Given the description of an element on the screen output the (x, y) to click on. 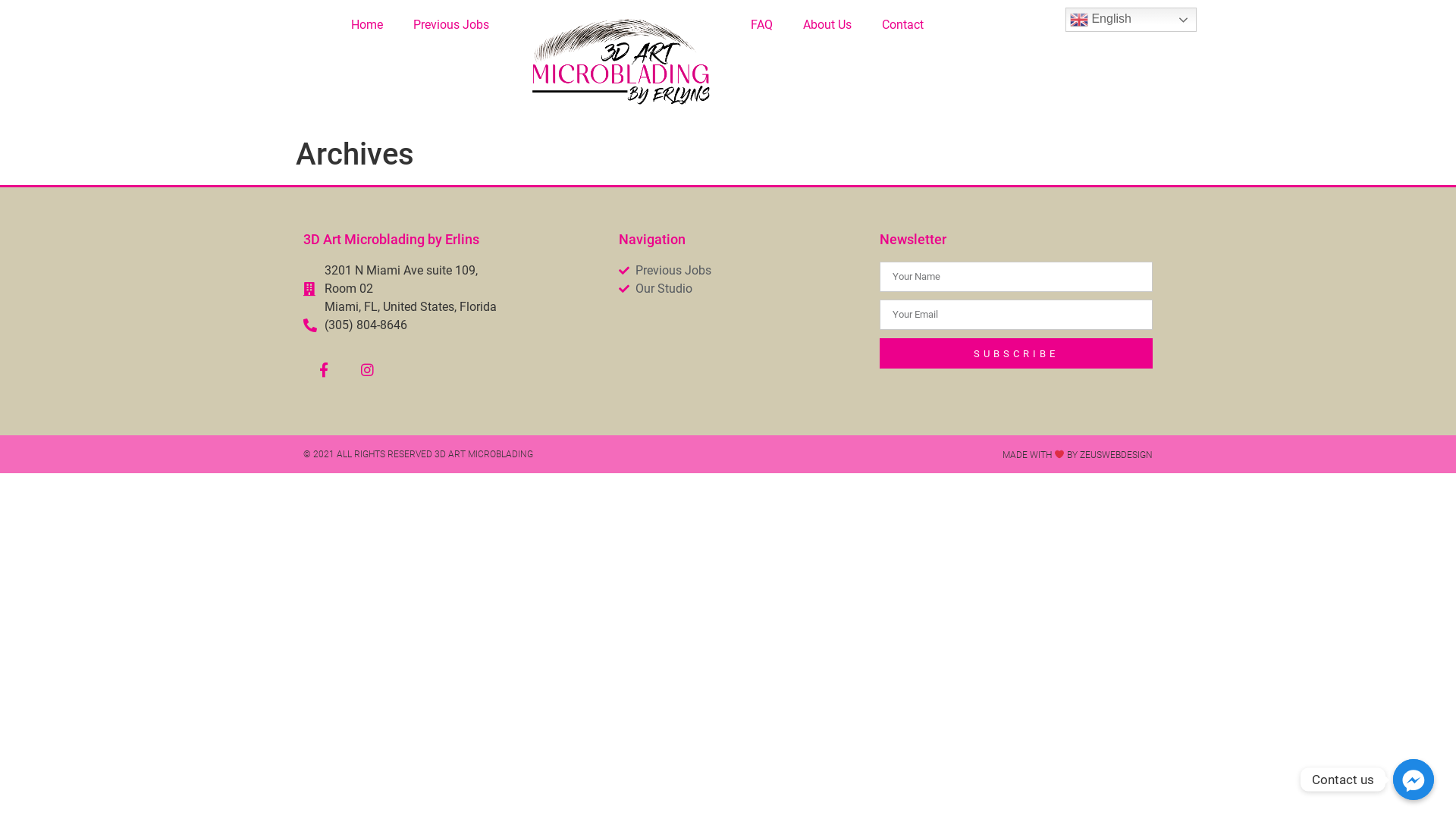
Previous Jobs Element type: text (451, 24)
Our Studio Element type: text (741, 288)
Home Element type: text (366, 24)
English Element type: text (1130, 19)
SUBSCRIBE Element type: text (1015, 353)
Contact Element type: text (902, 24)
Contact us Element type: text (1413, 779)
About Us Element type: text (826, 24)
Previous Jobs Element type: text (741, 270)
FAQ Element type: text (761, 24)
